Given the description of an element on the screen output the (x, y) to click on. 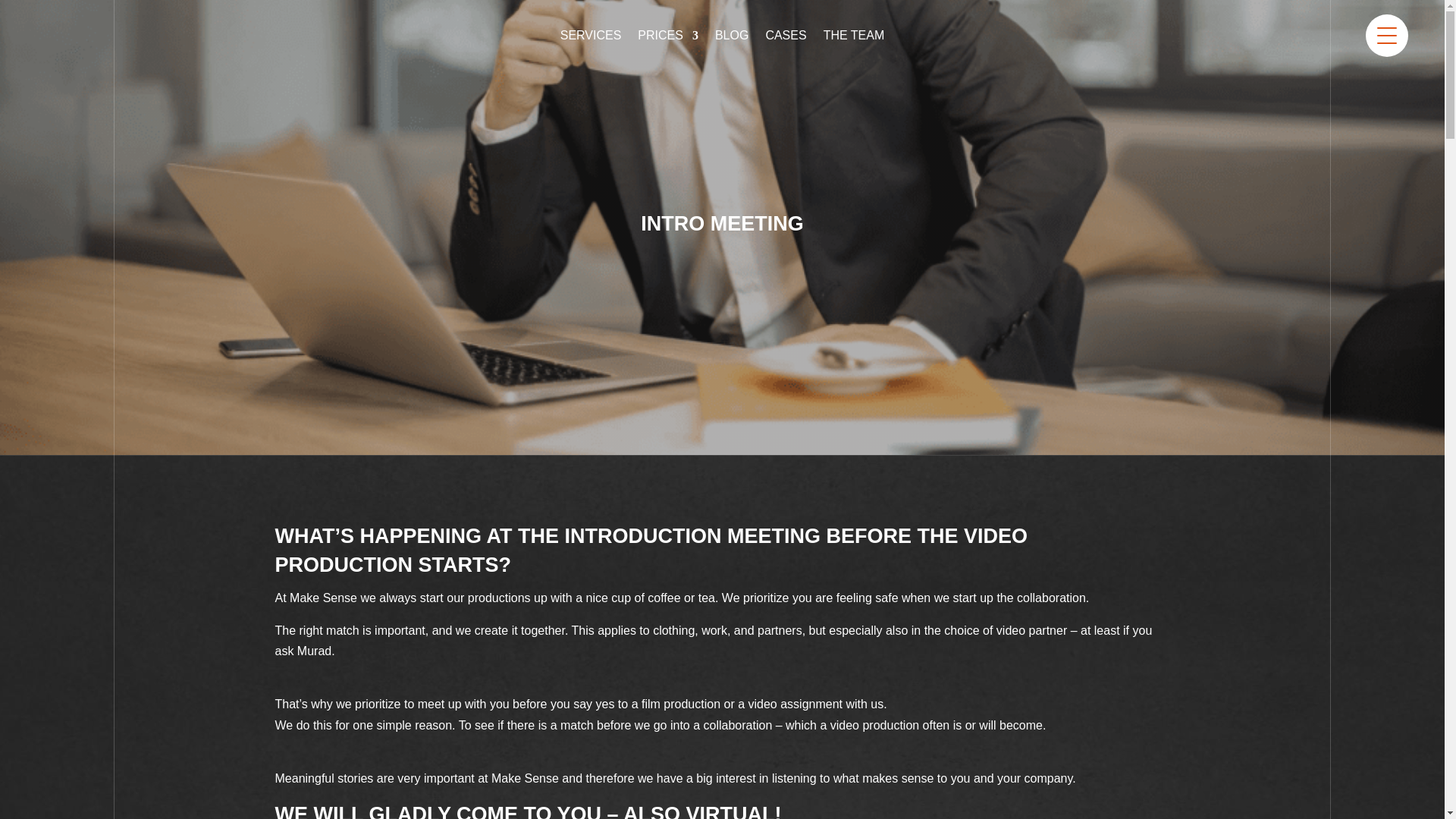
PRICES (667, 38)
THE TEAM (854, 38)
SERVICES (590, 38)
CASES (785, 38)
BLOG (731, 38)
